Given the description of an element on the screen output the (x, y) to click on. 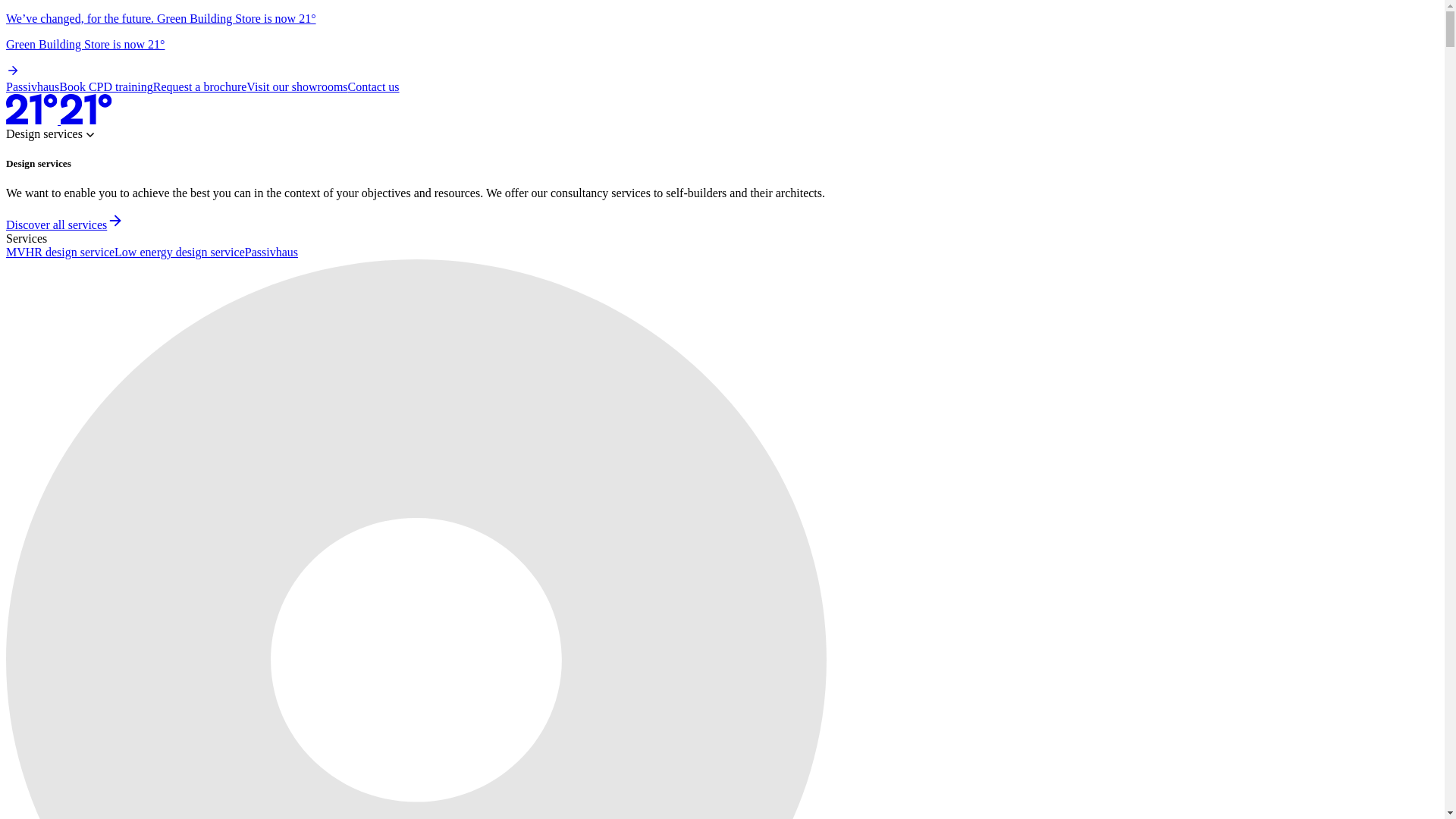
Passivhaus (32, 86)
Low energy design service (179, 251)
Visit our showrooms (296, 86)
Discover all services (64, 224)
Request a brochure (199, 86)
MVHR design service (60, 251)
Passivhaus (271, 251)
Book CPD training (105, 86)
Contact us (372, 86)
